Given the description of an element on the screen output the (x, y) to click on. 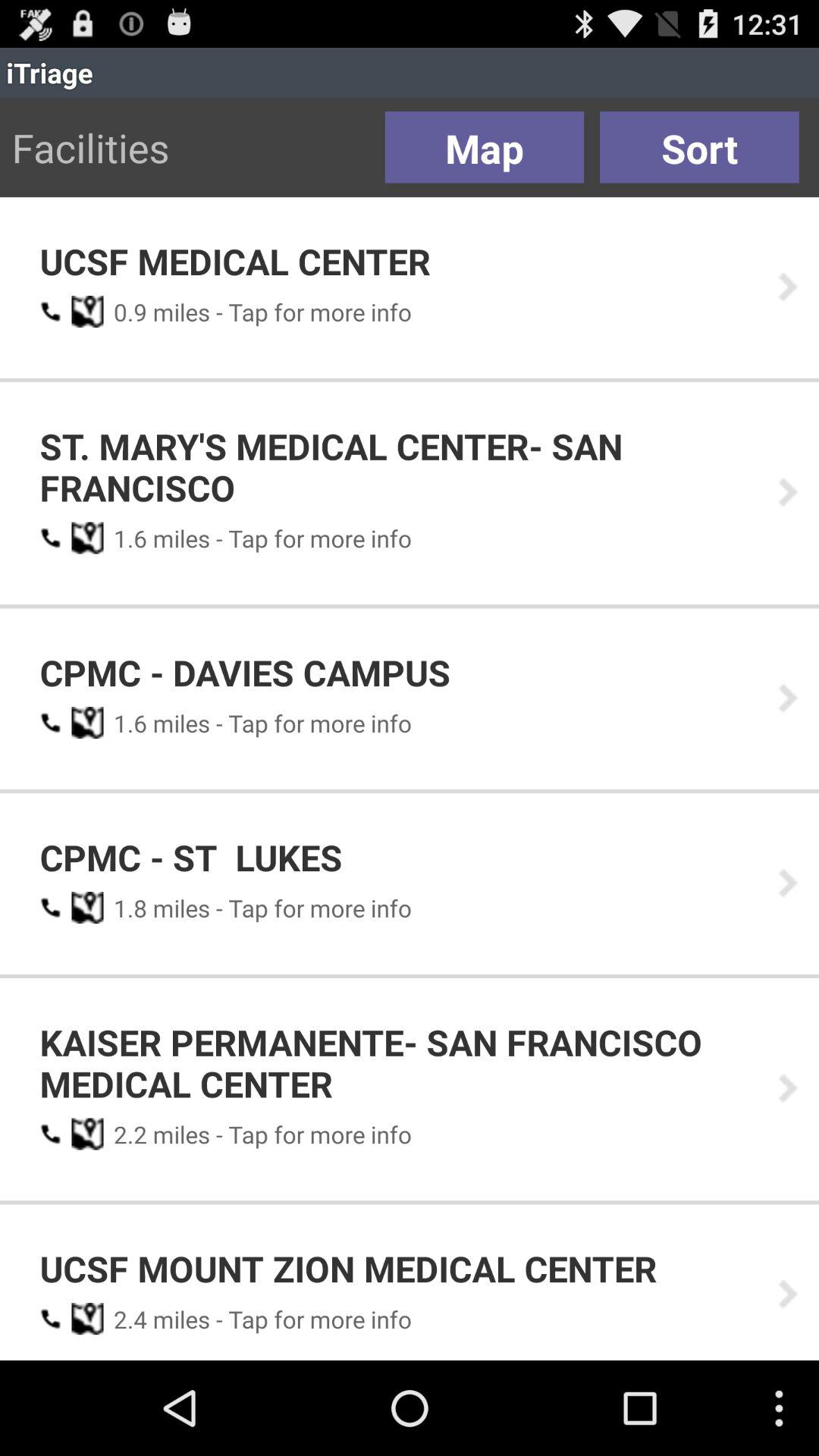
open the app above st mary s icon (125, 311)
